Given the description of an element on the screen output the (x, y) to click on. 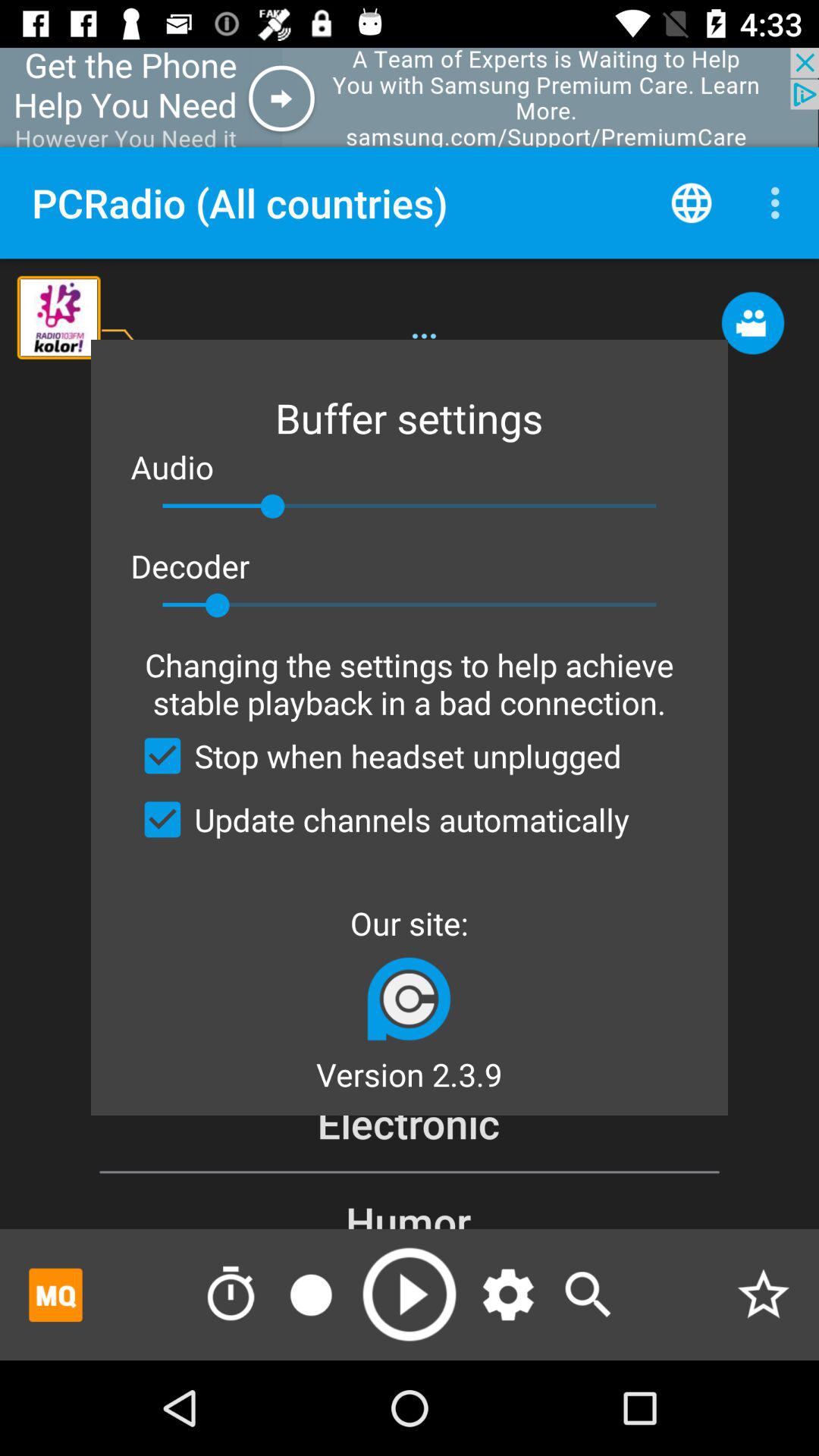
link to app 's website (408, 998)
